Given the description of an element on the screen output the (x, y) to click on. 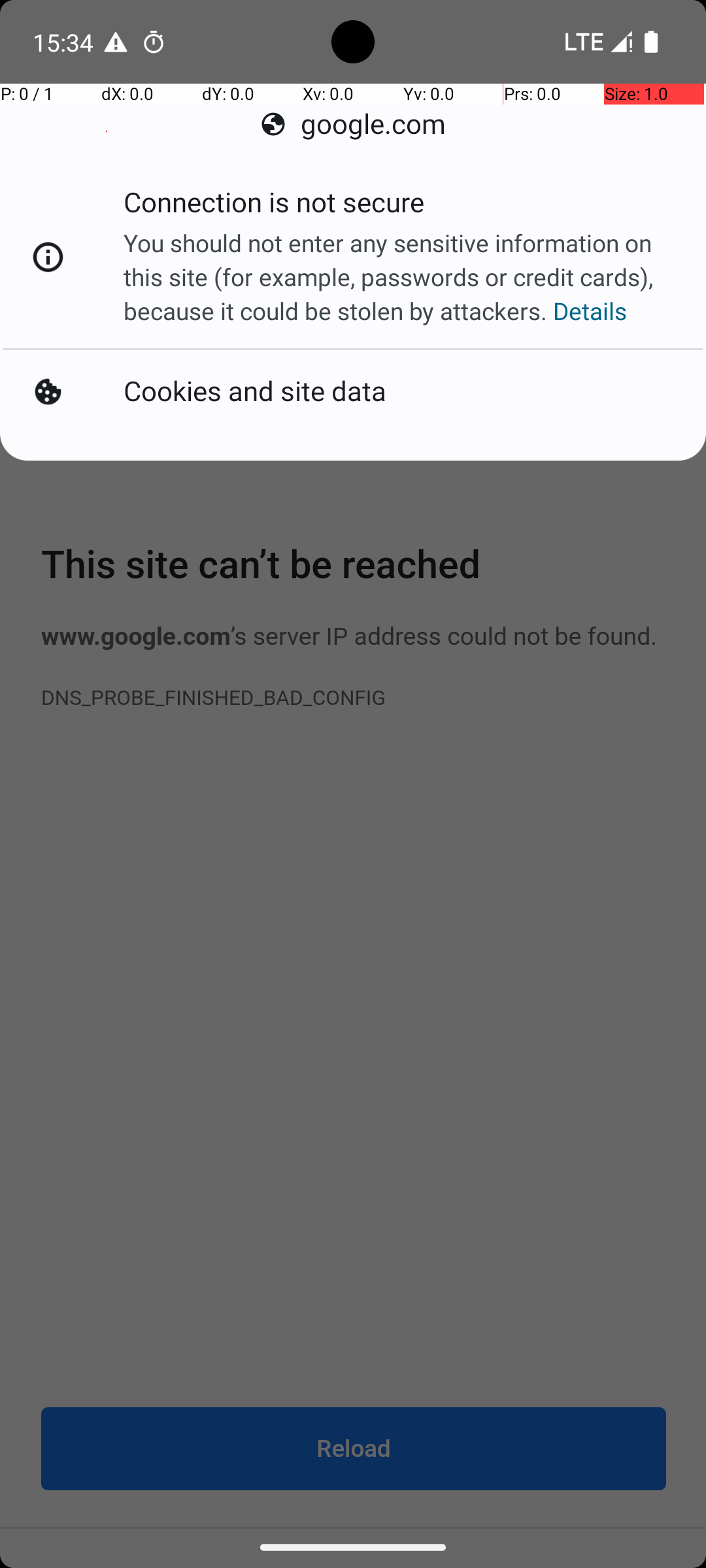
Connection is not secure Element type: android.widget.TextView (273, 206)
You should not enter any sensitive information on this site (for example, passwords or credit cards), because it could be stolen by attackers. Details Element type: android.widget.TextView (400, 276)
Cookies and site data Element type: android.widget.TextView (254, 391)
